Given the description of an element on the screen output the (x, y) to click on. 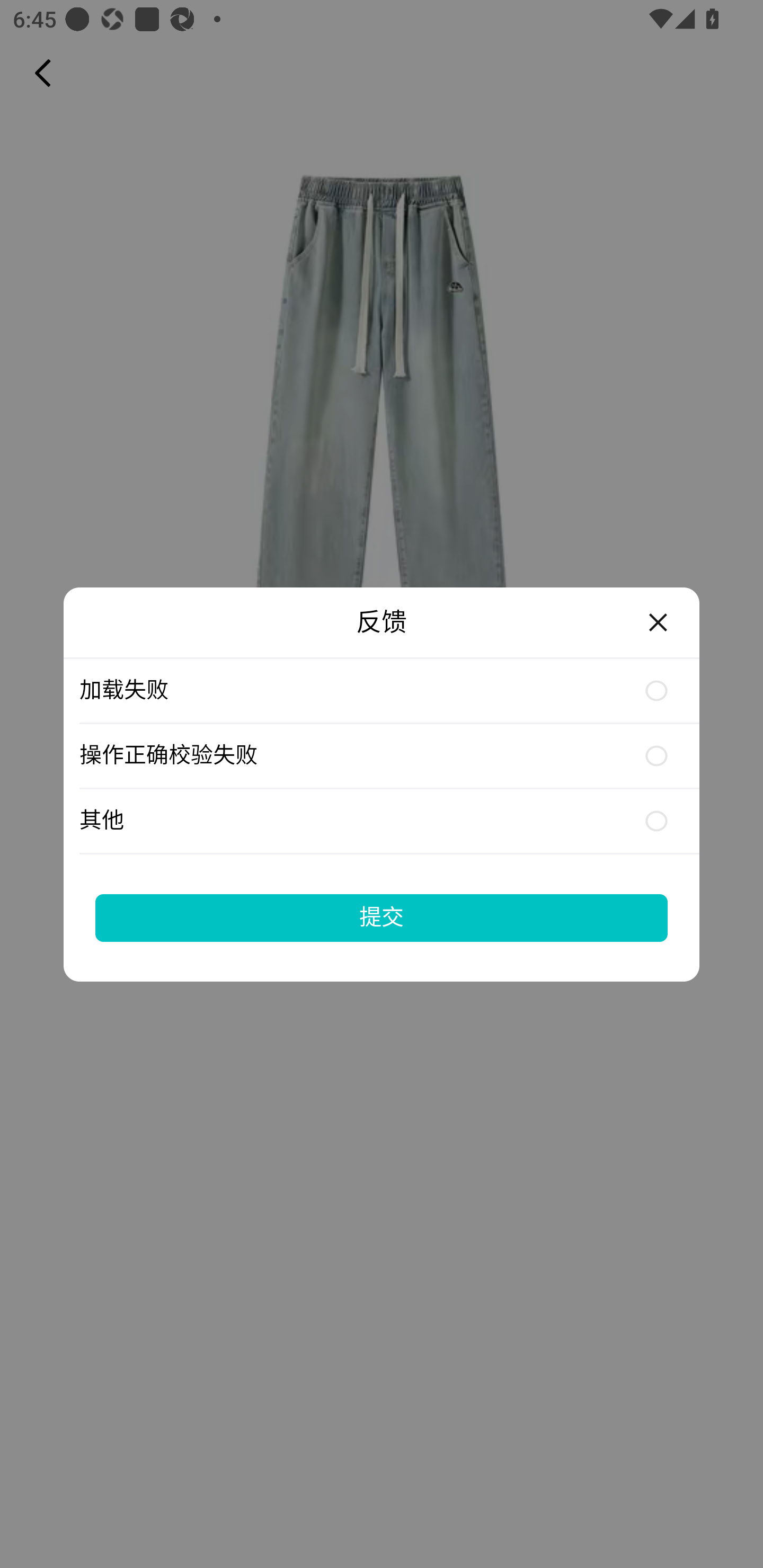
提交 (381, 917)
